Given the description of an element on the screen output the (x, y) to click on. 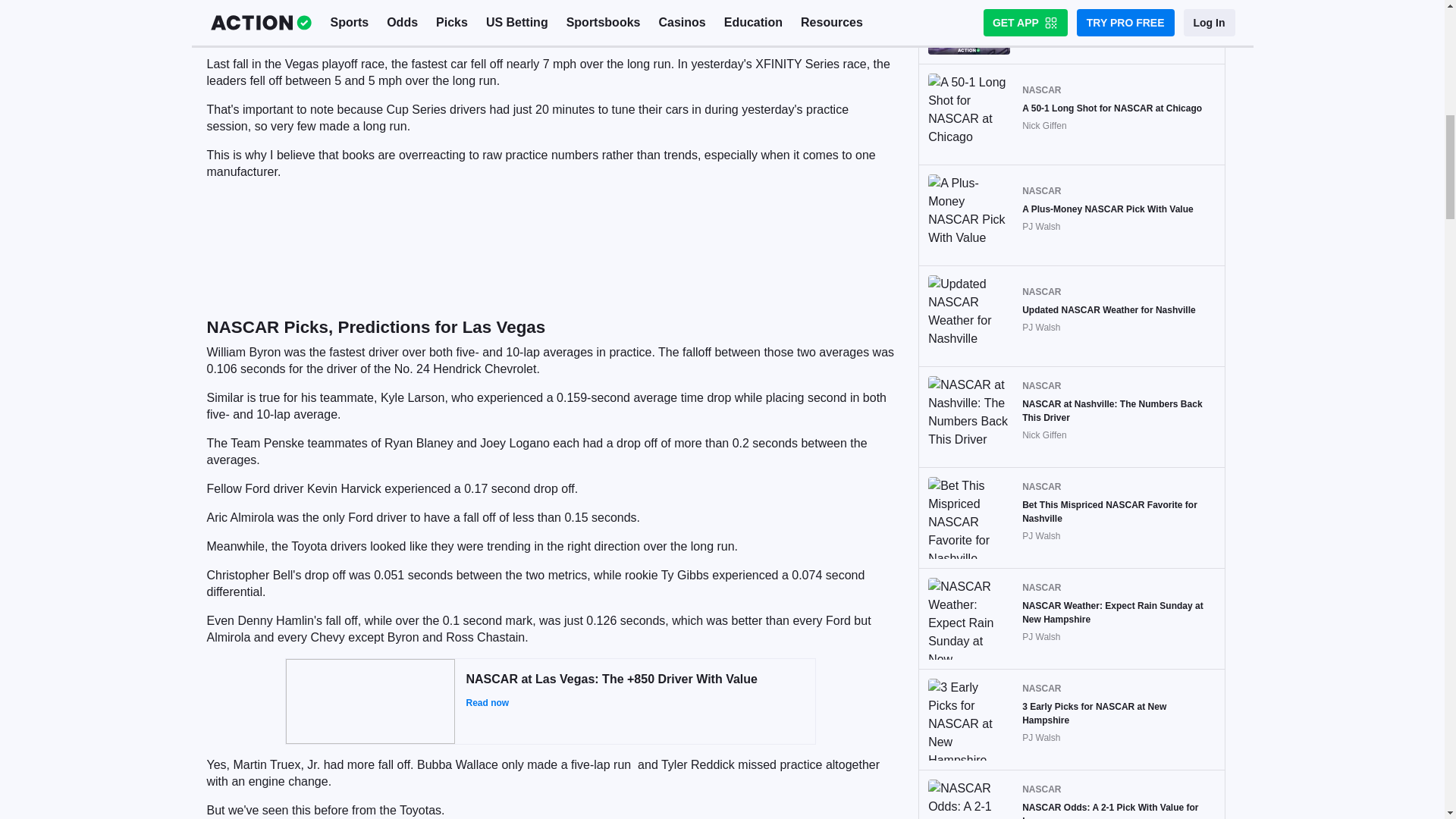
A 50-1 Long Shot for NASCAR at Chicago (1112, 108)
NASCAR at Chicago: Best Bet for Sunday's Grant Park 165 (1118, 10)
A Plus-Money NASCAR Pick With Value (1107, 209)
Read now (634, 703)
